Given the description of an element on the screen output the (x, y) to click on. 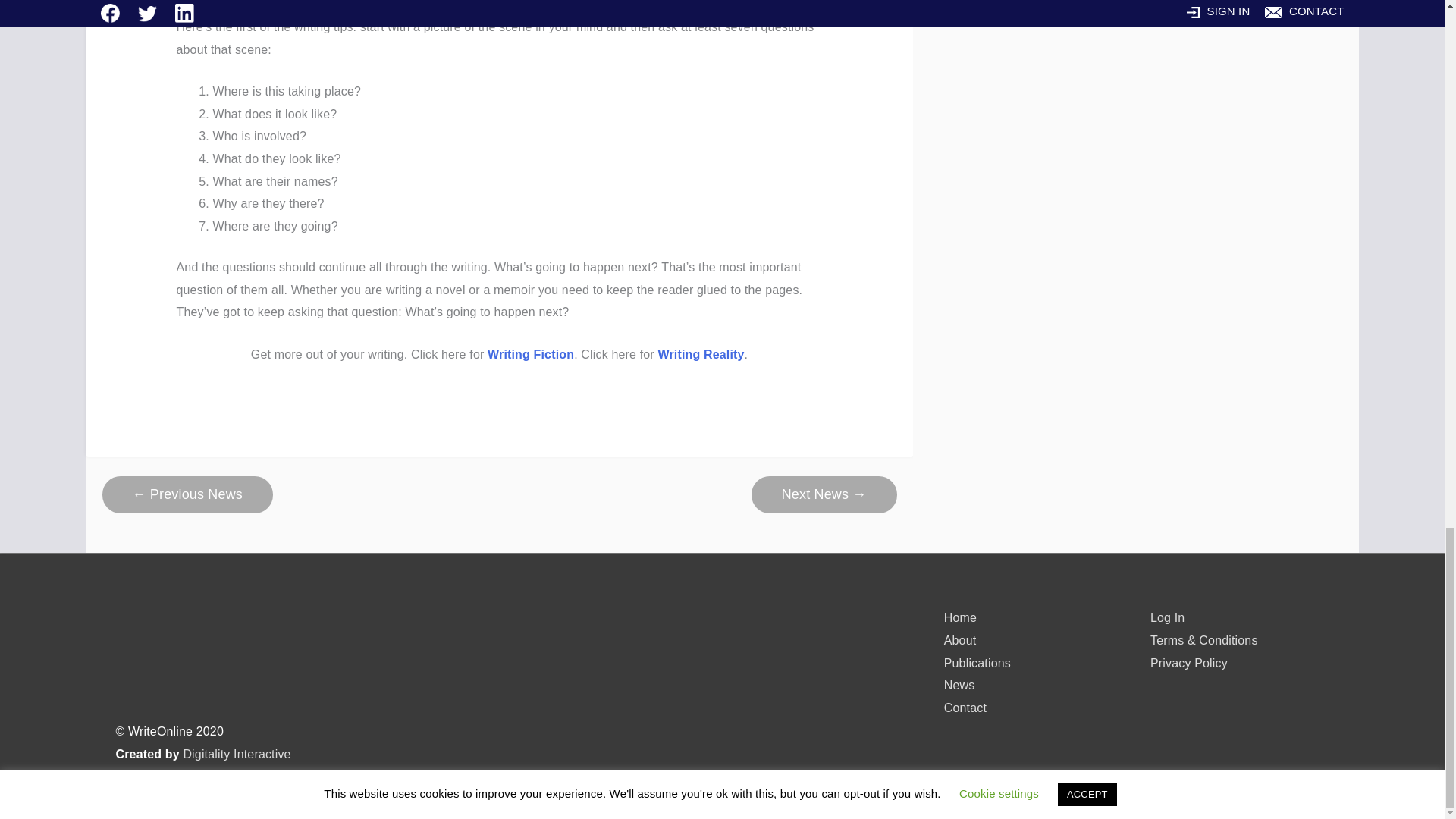
News (959, 684)
Contact (965, 707)
Writing Reality (701, 354)
Home (959, 617)
Log In (1167, 617)
Writing rewards (186, 494)
Writing Fiction (530, 354)
Digitality Interactive (236, 753)
Privacy Policy (1188, 662)
About (959, 640)
Publications (976, 662)
Best practice writing tips 2 (823, 494)
